Given the description of an element on the screen output the (x, y) to click on. 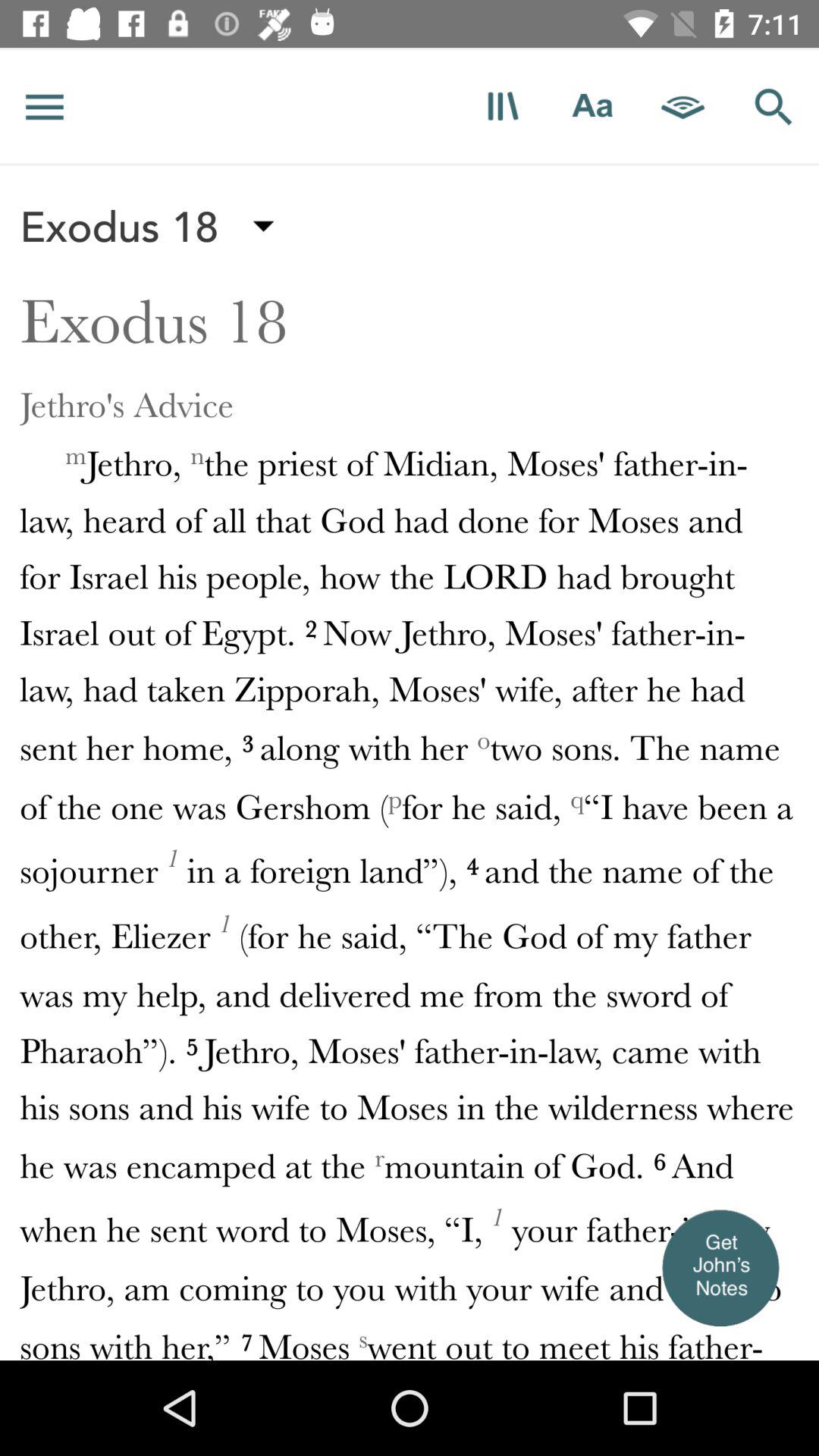
read text aloud (683, 106)
